Given the description of an element on the screen output the (x, y) to click on. 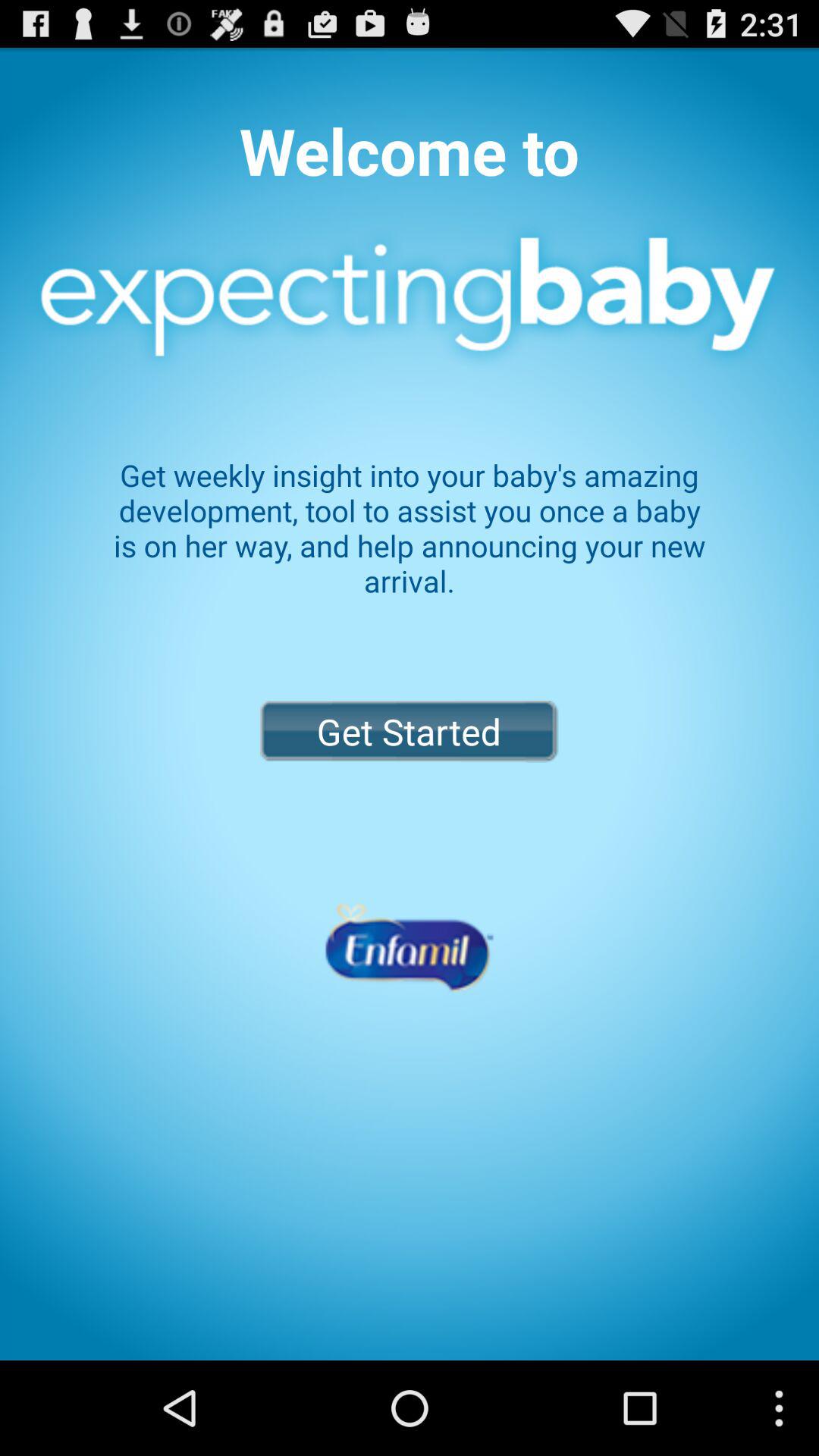
jump to get started item (408, 731)
